Given the description of an element on the screen output the (x, y) to click on. 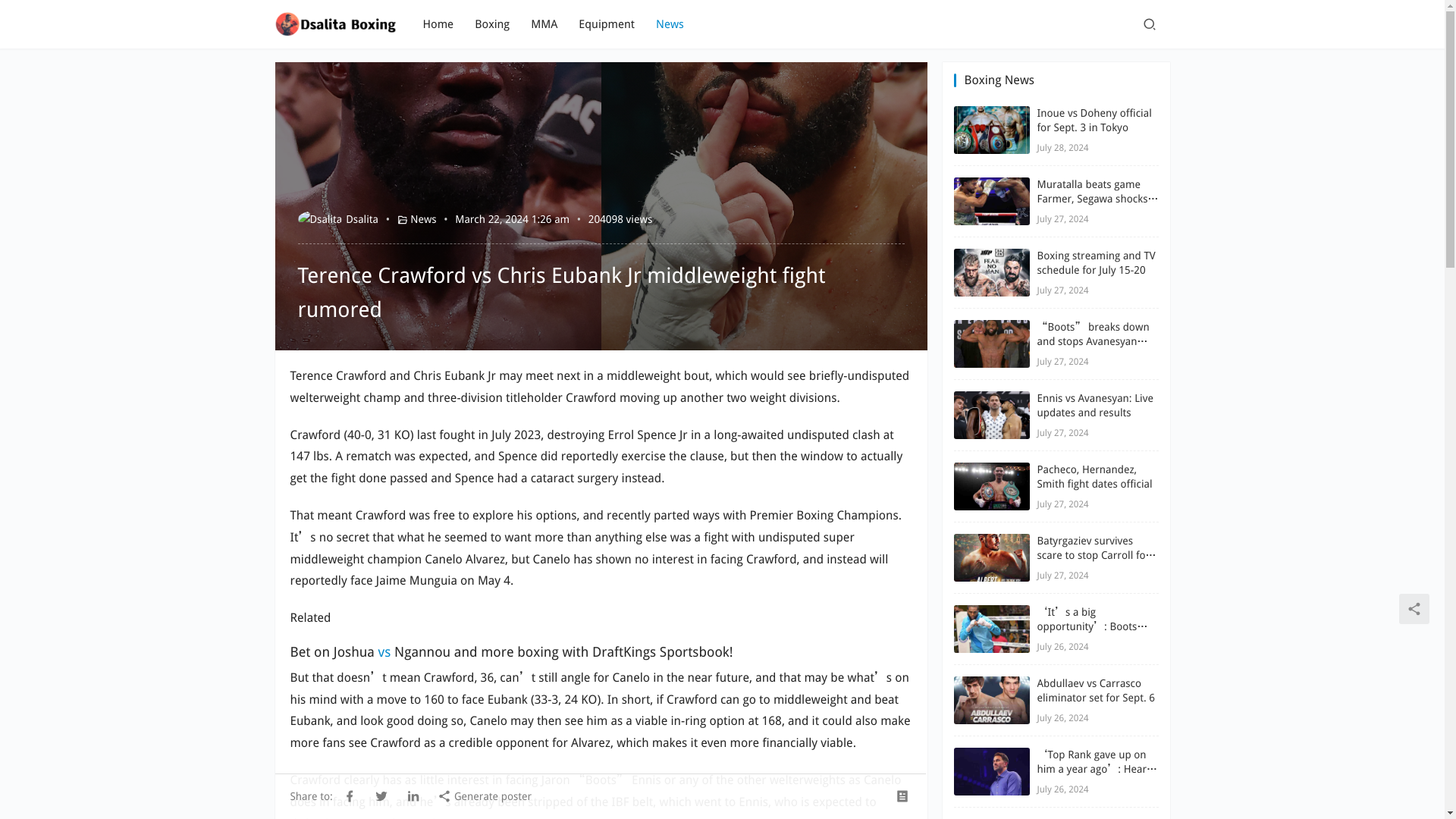
vs (384, 651)
News (422, 218)
Generate poster (483, 795)
vs (384, 651)
Home (438, 24)
Boxing (491, 24)
MMA (544, 24)
News (670, 24)
Dsalita (337, 218)
Equipment (606, 24)
